Given the description of an element on the screen output the (x, y) to click on. 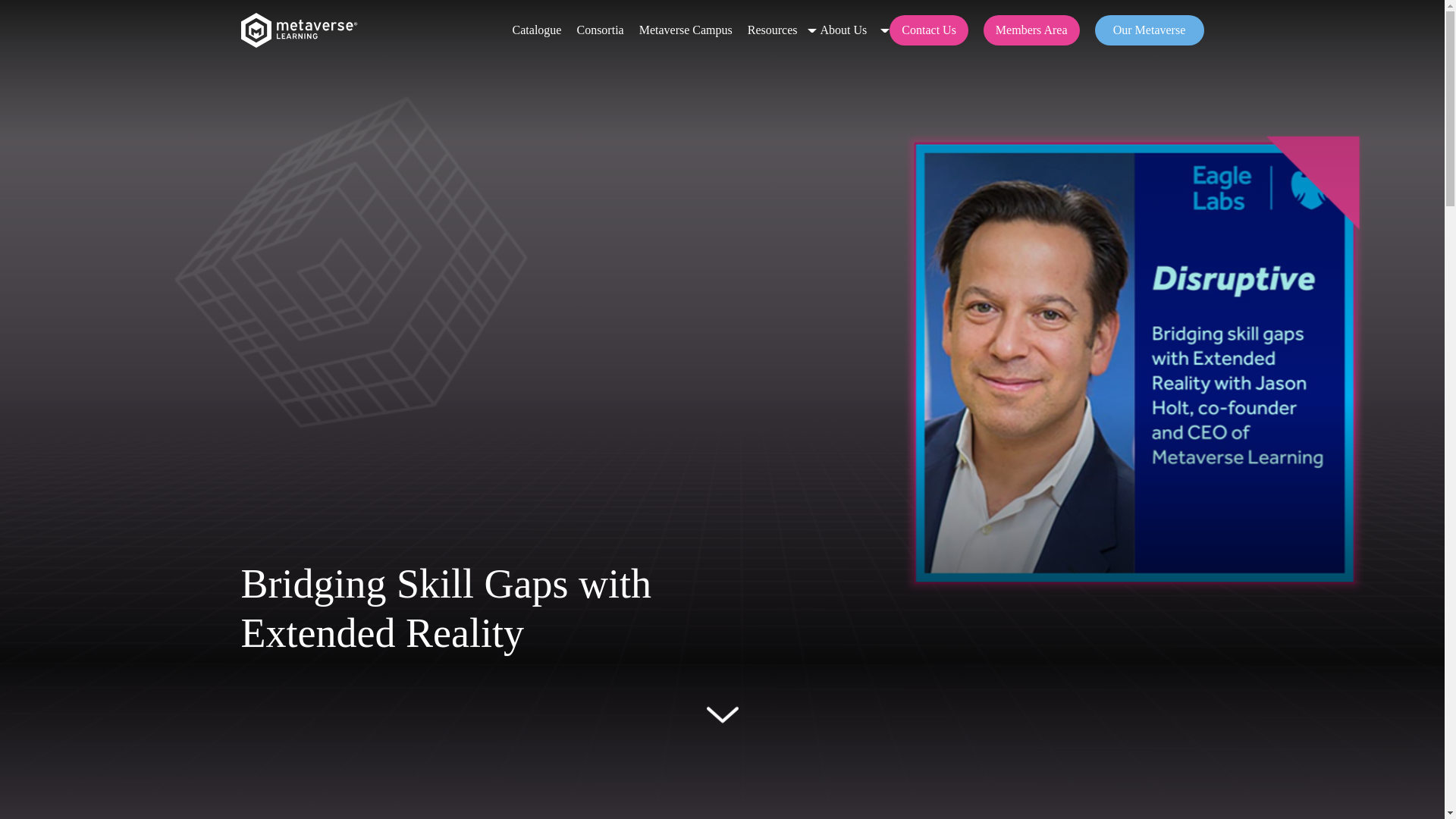
Consortia (599, 30)
Resources (772, 30)
Members Area (1032, 30)
Metaverse Campus (685, 30)
About Us (844, 30)
Contact Us (928, 30)
Catalogue (537, 30)
